Given the description of an element on the screen output the (x, y) to click on. 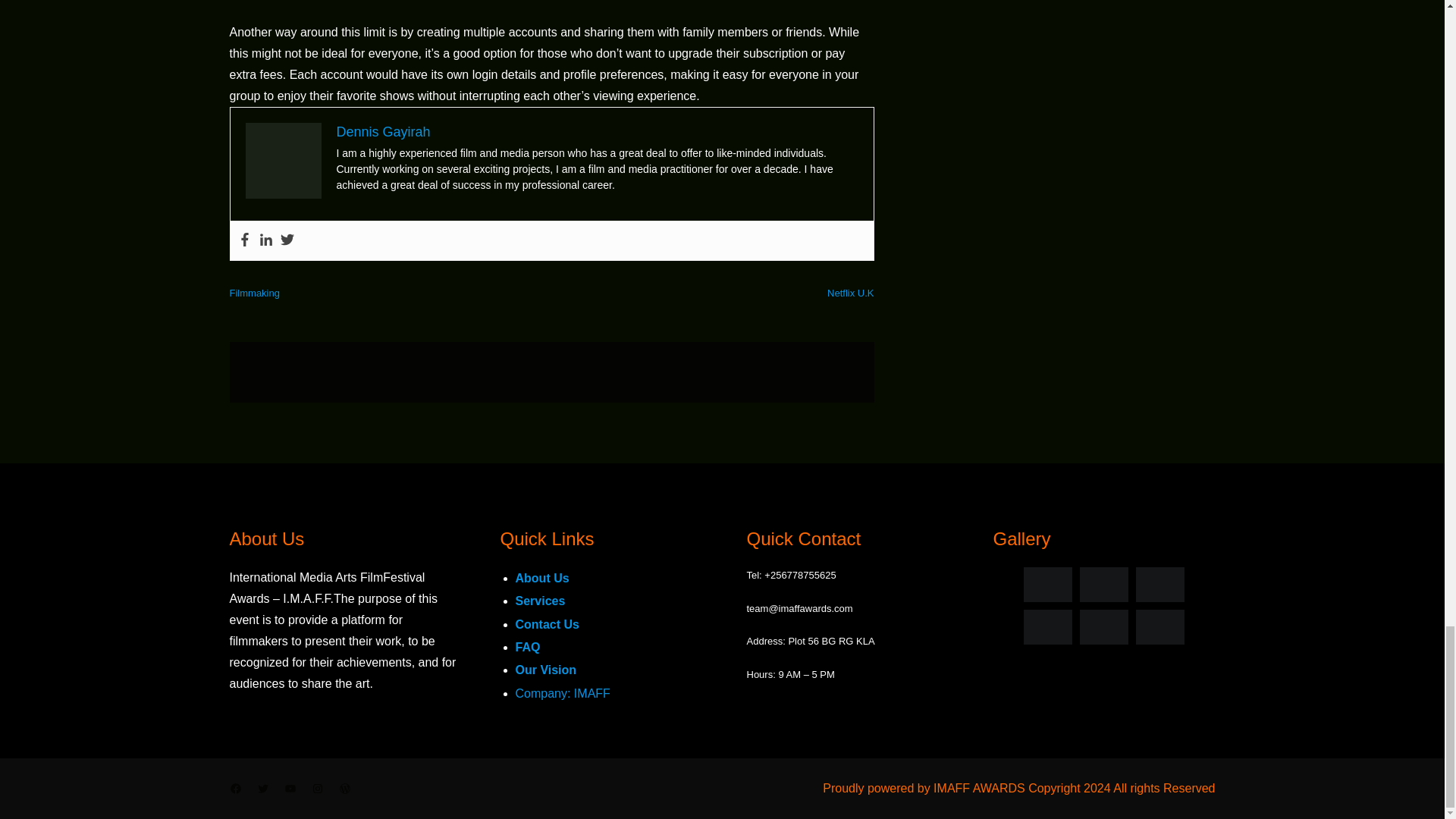
Dennis Gayirah (383, 131)
Netflix U.K (850, 292)
Filmmaking (253, 292)
